Given the description of an element on the screen output the (x, y) to click on. 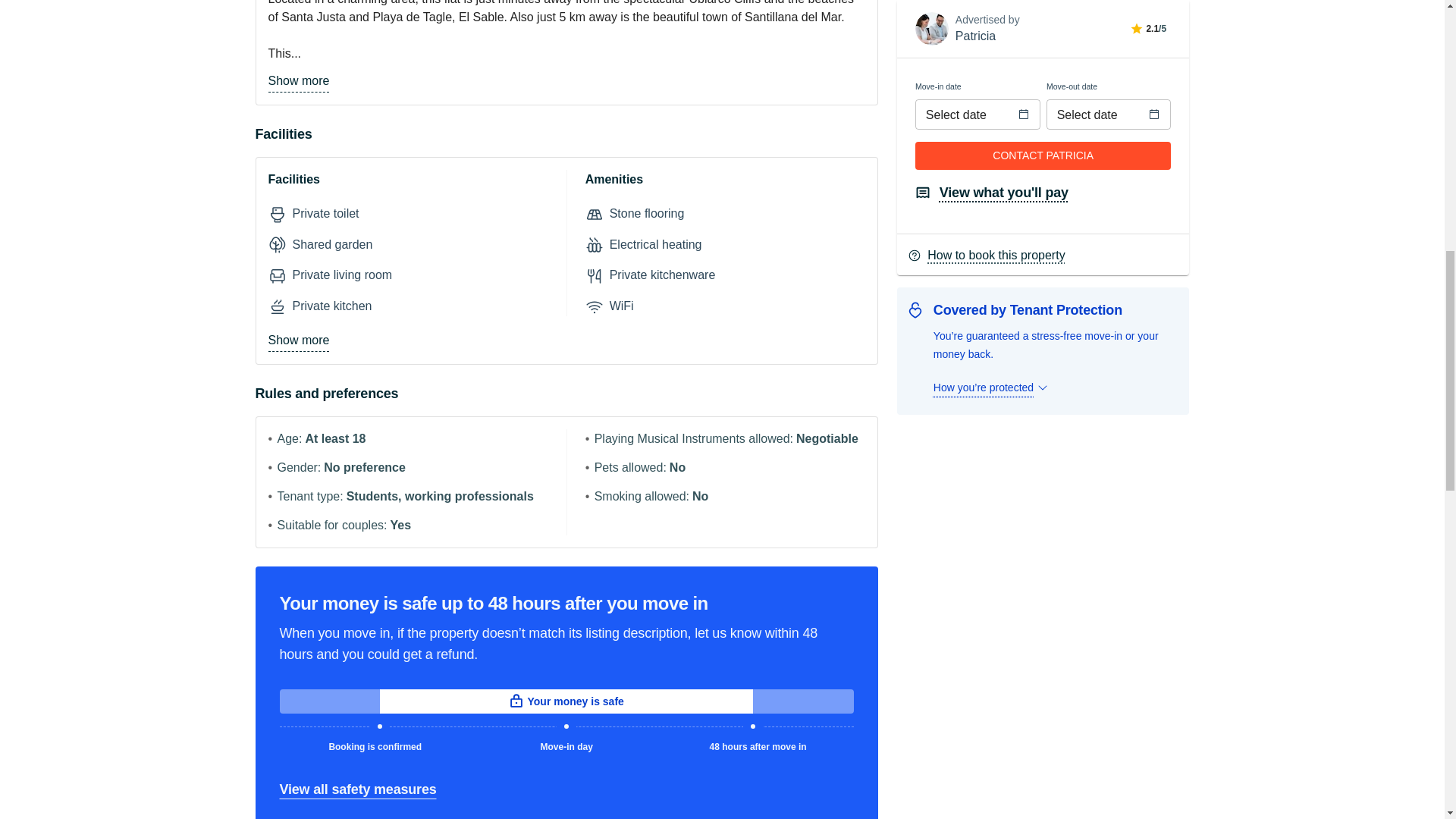
Show more (298, 341)
Show more (298, 81)
View all safety measures (357, 789)
